Given the description of an element on the screen output the (x, y) to click on. 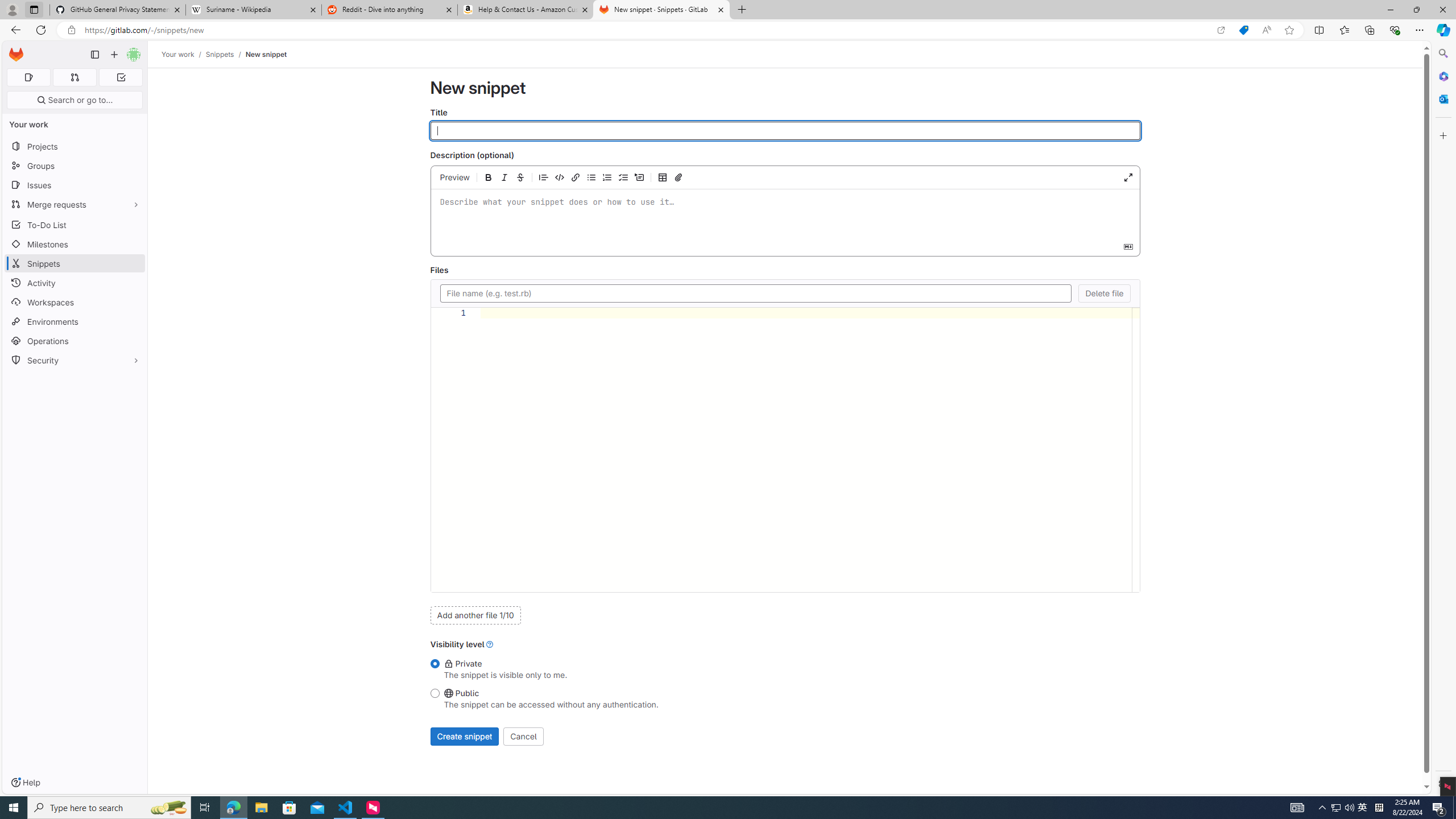
Milestones (74, 244)
Files (755, 293)
Title (784, 130)
Security (74, 359)
Preview (454, 177)
Create new... (113, 54)
Add a numbered list (606, 177)
Class: gl-link (489, 643)
